Given the description of an element on the screen output the (x, y) to click on. 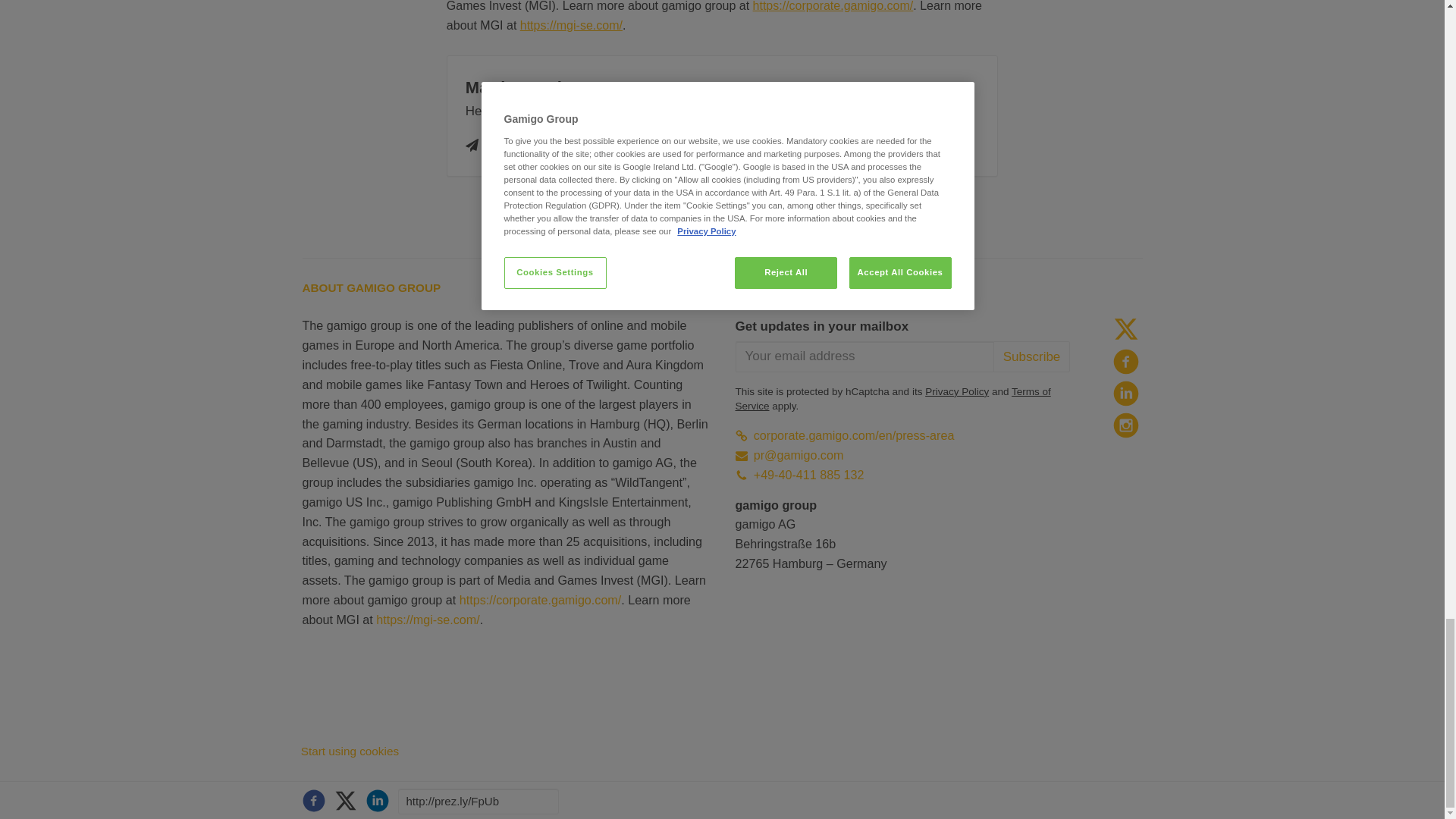
Start using cookies (349, 750)
Subscribe (1031, 356)
Privacy Policy (956, 391)
gamigo group Linkedin (1125, 393)
gamigo group Twitter (1125, 329)
Terms of Service (893, 398)
gamigo group Facebook (1125, 361)
gamigo group Instagram (1125, 425)
